Given the description of an element on the screen output the (x, y) to click on. 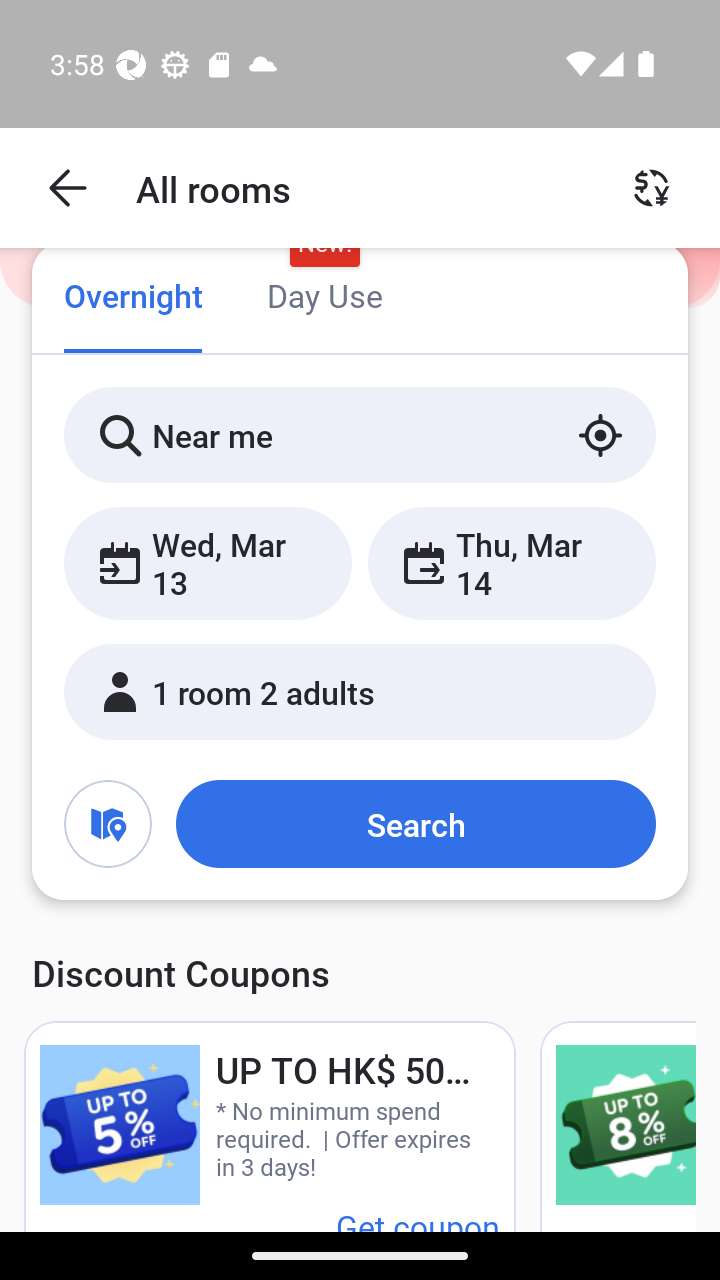
Day Use (324, 298)
Near me (359, 434)
Wed, Mar 13 (208, 562)
Thu, Mar 14 (511, 562)
1 room 2 adults (359, 691)
Search (415, 823)
